Given the description of an element on the screen output the (x, y) to click on. 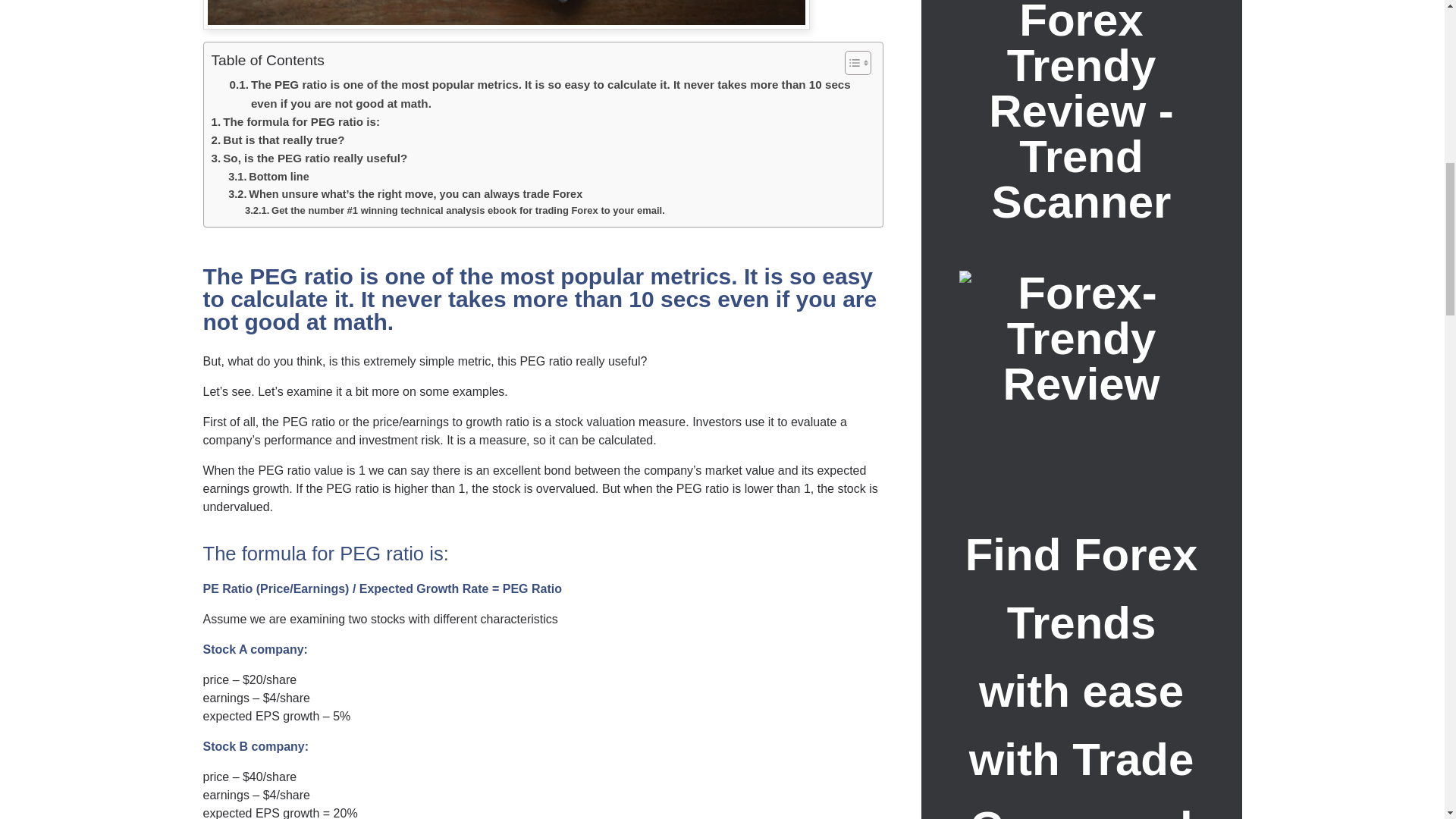
The formula for PEG ratio is: (294, 122)
But is that really true? (277, 140)
So, is the PEG ratio really useful? (309, 158)
Bottom line (268, 176)
So, is the PEG ratio really useful? (309, 158)
Bottom line (268, 176)
The formula for PEG ratio is: (294, 122)
But is that really true? (277, 140)
